Given the description of an element on the screen output the (x, y) to click on. 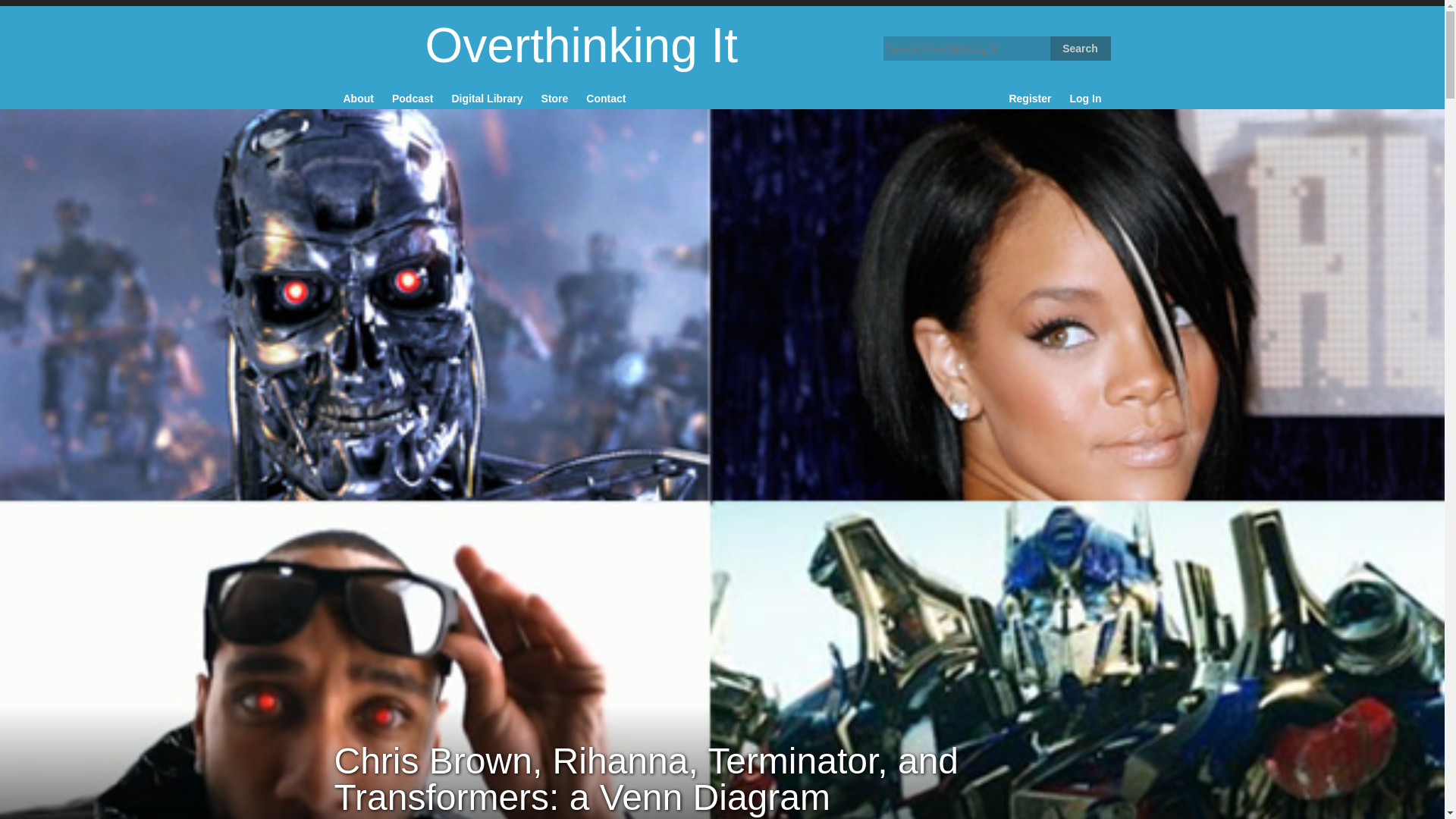
Search (1079, 48)
Podcast (412, 96)
Contact (605, 96)
About Overthinking It (357, 96)
About (357, 96)
Digital Library (486, 96)
Search (1079, 48)
Store (555, 96)
Overthinking It (535, 45)
